Given the description of an element on the screen output the (x, y) to click on. 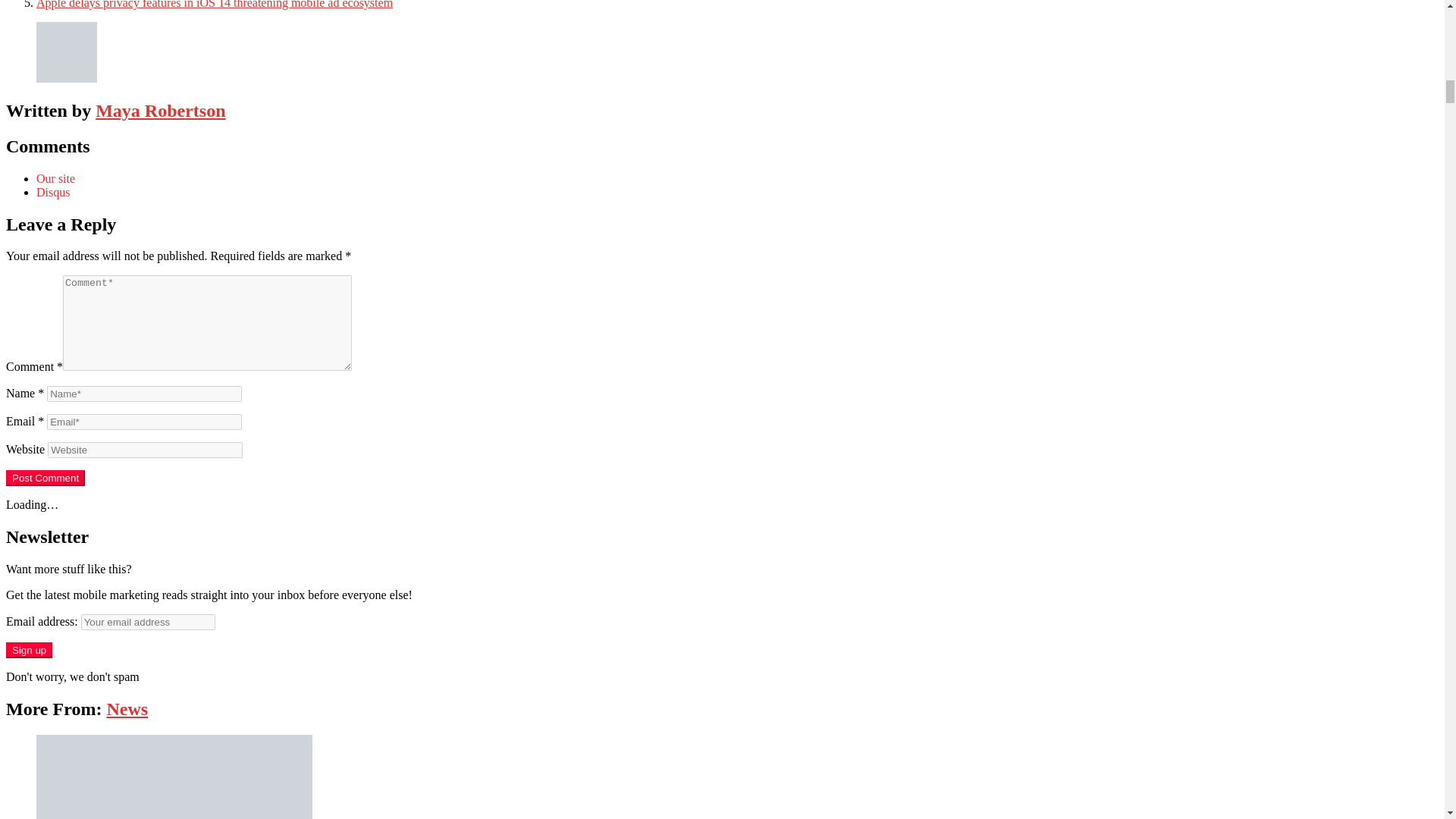
Post Comment (44, 478)
Sign up (28, 650)
